Given the description of an element on the screen output the (x, y) to click on. 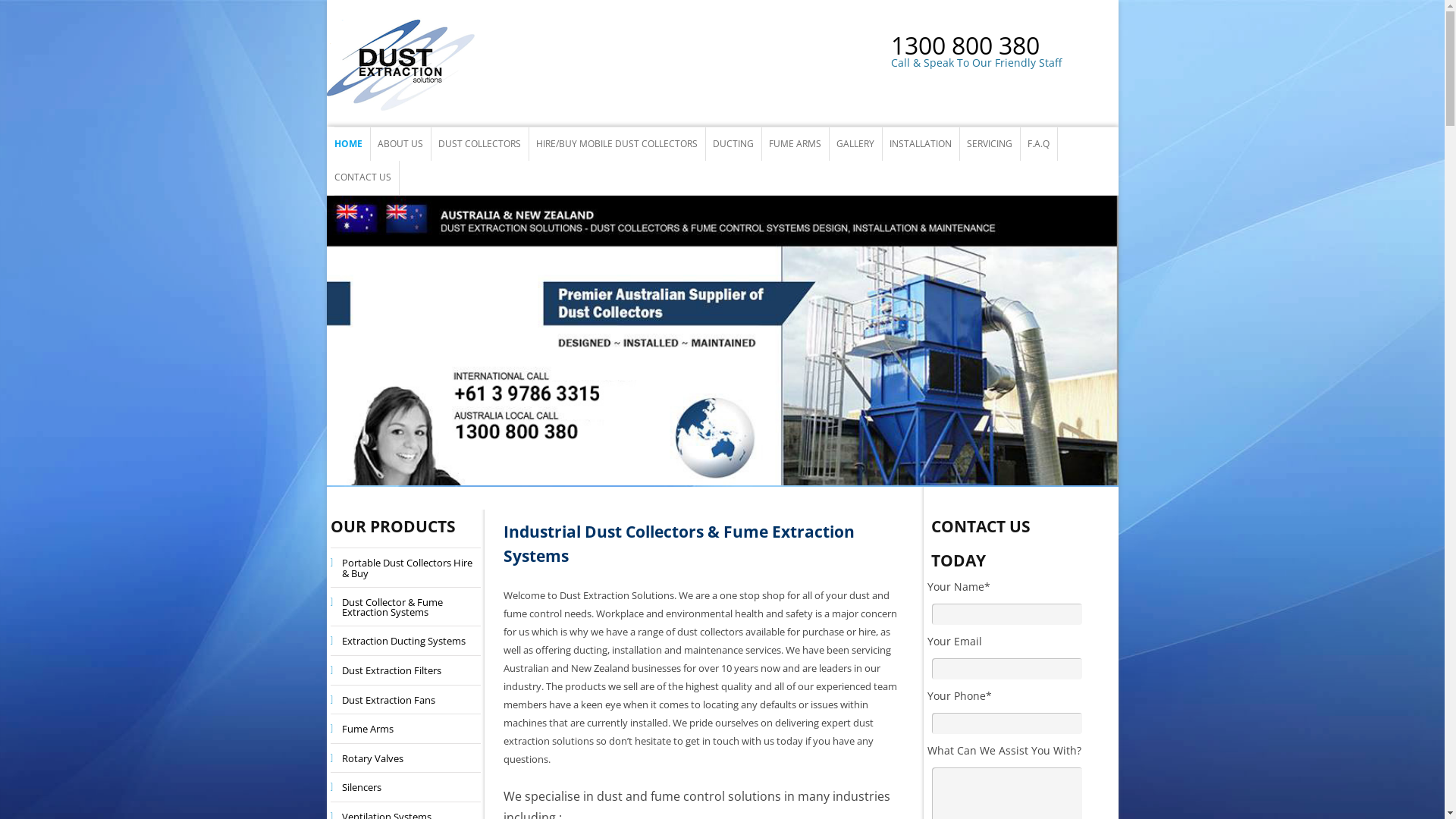
GALLERY Element type: text (854, 143)
FUME ARMS Element type: text (794, 143)
Rotary Valves Element type: text (367, 757)
Skip to content Element type: text (759, 131)
HIRE/BUY MOBILE DUST COLLECTORS Element type: text (615, 143)
CONTACT US Element type: text (361, 177)
F.A.Q Element type: text (1037, 143)
ABOUT US Element type: text (400, 143)
1300 800 380
Call & Speak To Our Friendly Staff Element type: text (1003, 55)
Portable Dust Collectors Hire & Buy Element type: text (404, 567)
Fume Arms Element type: text (362, 728)
Silencers Element type: text (356, 786)
DUST COLLECTORS Element type: text (479, 143)
Dust Extraction Filters Element type: text (386, 669)
Extraction Ducting Systems Element type: text (398, 640)
Dust Extraction Fans Element type: text (383, 699)
DUCTING Element type: text (732, 143)
HOME Element type: text (347, 143)
Dust Collector & Fume Extraction Systems Element type: text (404, 606)
INSTALLATION Element type: text (919, 143)
SERVICING Element type: text (988, 143)
